Given the description of an element on the screen output the (x, y) to click on. 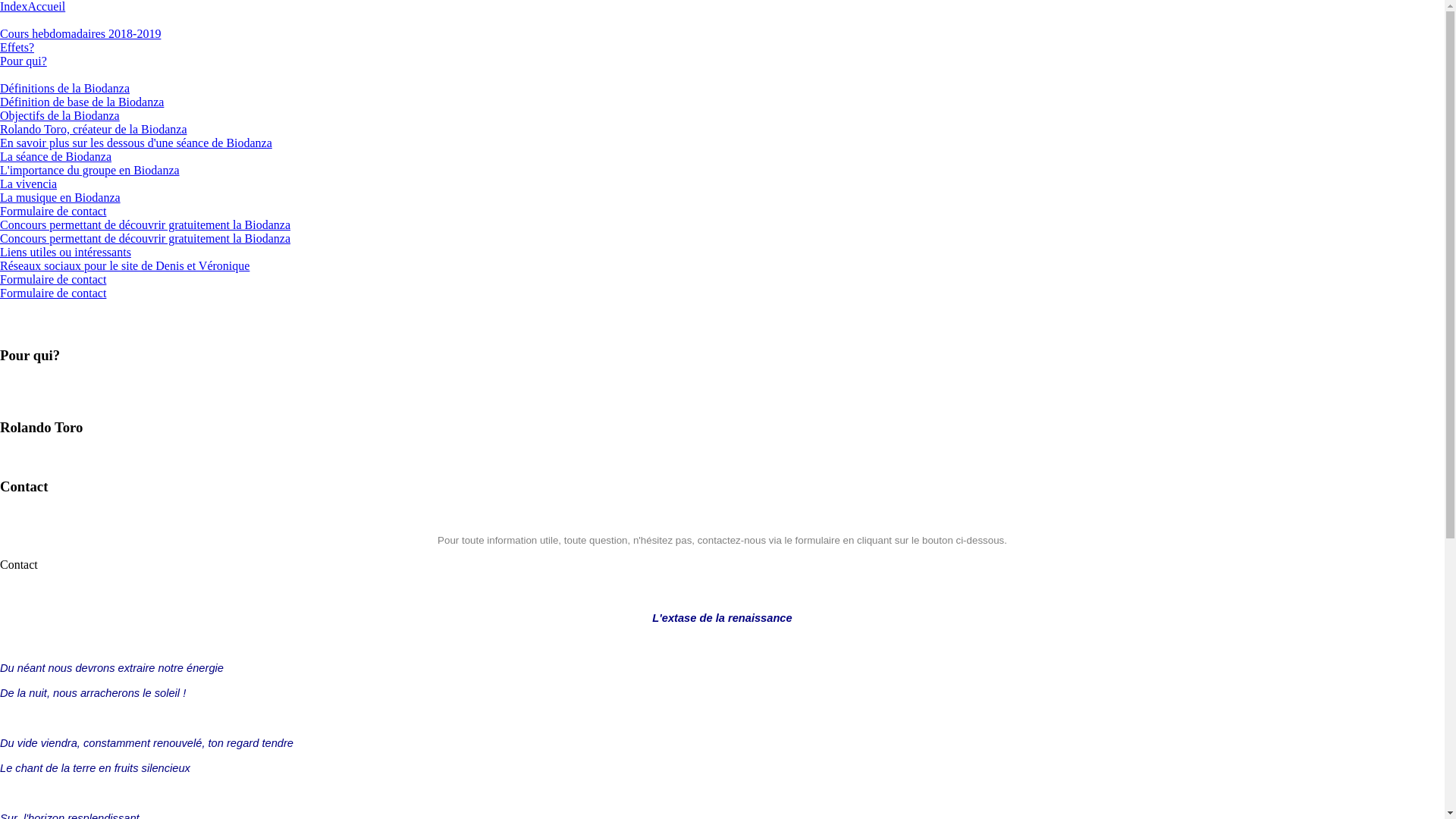
IndexAccueil Element type: text (32, 6)
Pour qui? Element type: text (23, 60)
Objectifs de la Biodanza Element type: text (59, 115)
Formulaire de contact Element type: text (53, 292)
La vivencia Element type: text (28, 183)
Formulaire de contact Element type: text (53, 210)
Formulaire de contact Element type: text (53, 279)
Cours hebdomadaires 2018-2019 Element type: text (80, 33)
La musique en Biodanza Element type: text (60, 197)
Effets? Element type: text (17, 46)
L'importance du groupe en Biodanza Element type: text (89, 169)
